Given the description of an element on the screen output the (x, y) to click on. 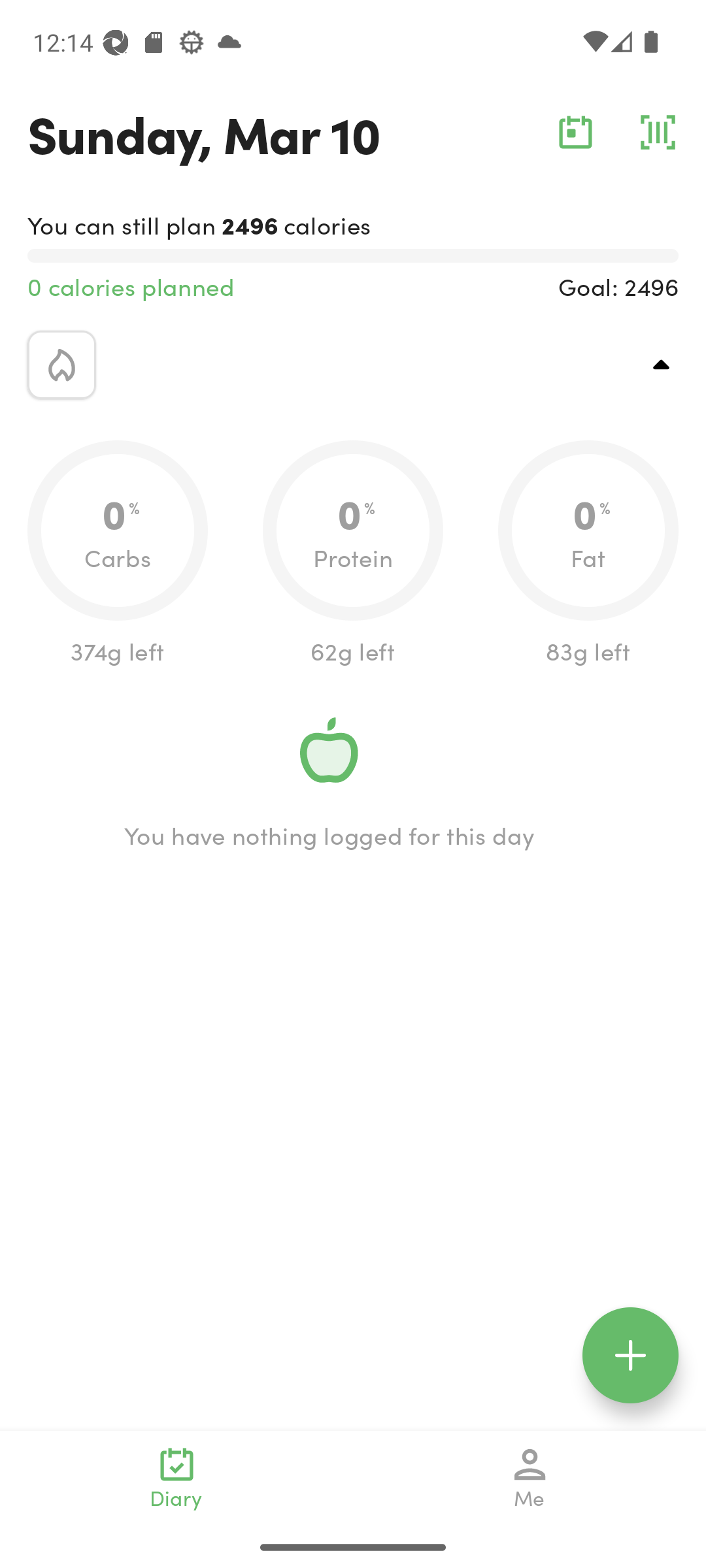
calendar_action (575, 132)
barcode_action (658, 132)
calorie_icon (62, 365)
top_right_action (661, 365)
0.0 0 % Carbs 374g left (117, 553)
0.0 0 % Protein 62g left (352, 553)
0.0 0 % Fat 83g left (588, 553)
floating_action_icon (630, 1355)
Me navigation_icon (529, 1478)
